Given the description of an element on the screen output the (x, y) to click on. 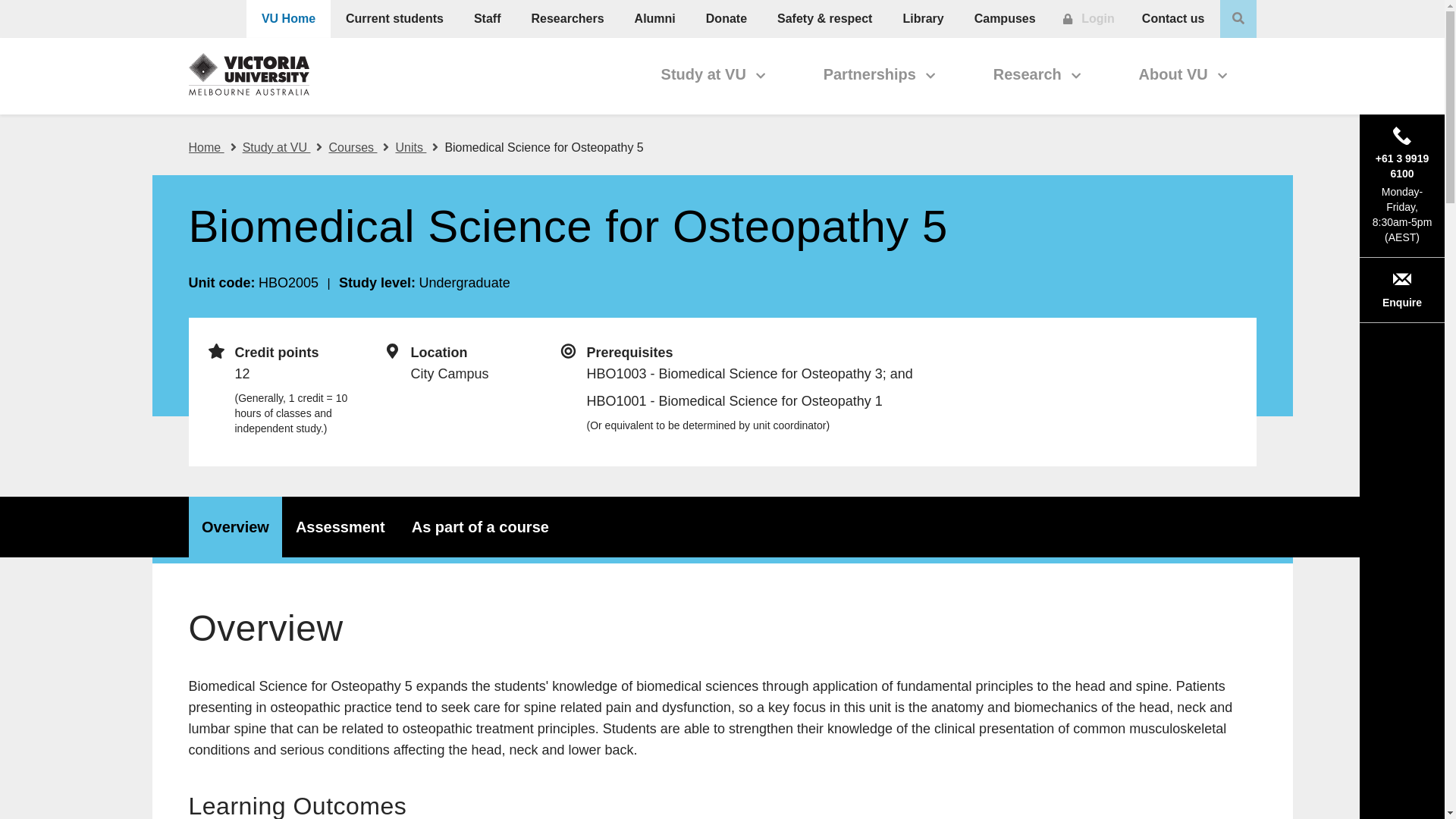
Research (1037, 75)
Home (211, 146)
Library (922, 18)
Courses (358, 146)
Overview (234, 526)
Staff (487, 18)
About VU (1183, 75)
Study at VU (283, 146)
VU Home (288, 18)
Enquire (721, 526)
Login (1401, 289)
Current students (1088, 18)
Researchers (394, 18)
Assessment (566, 18)
